Given the description of an element on the screen output the (x, y) to click on. 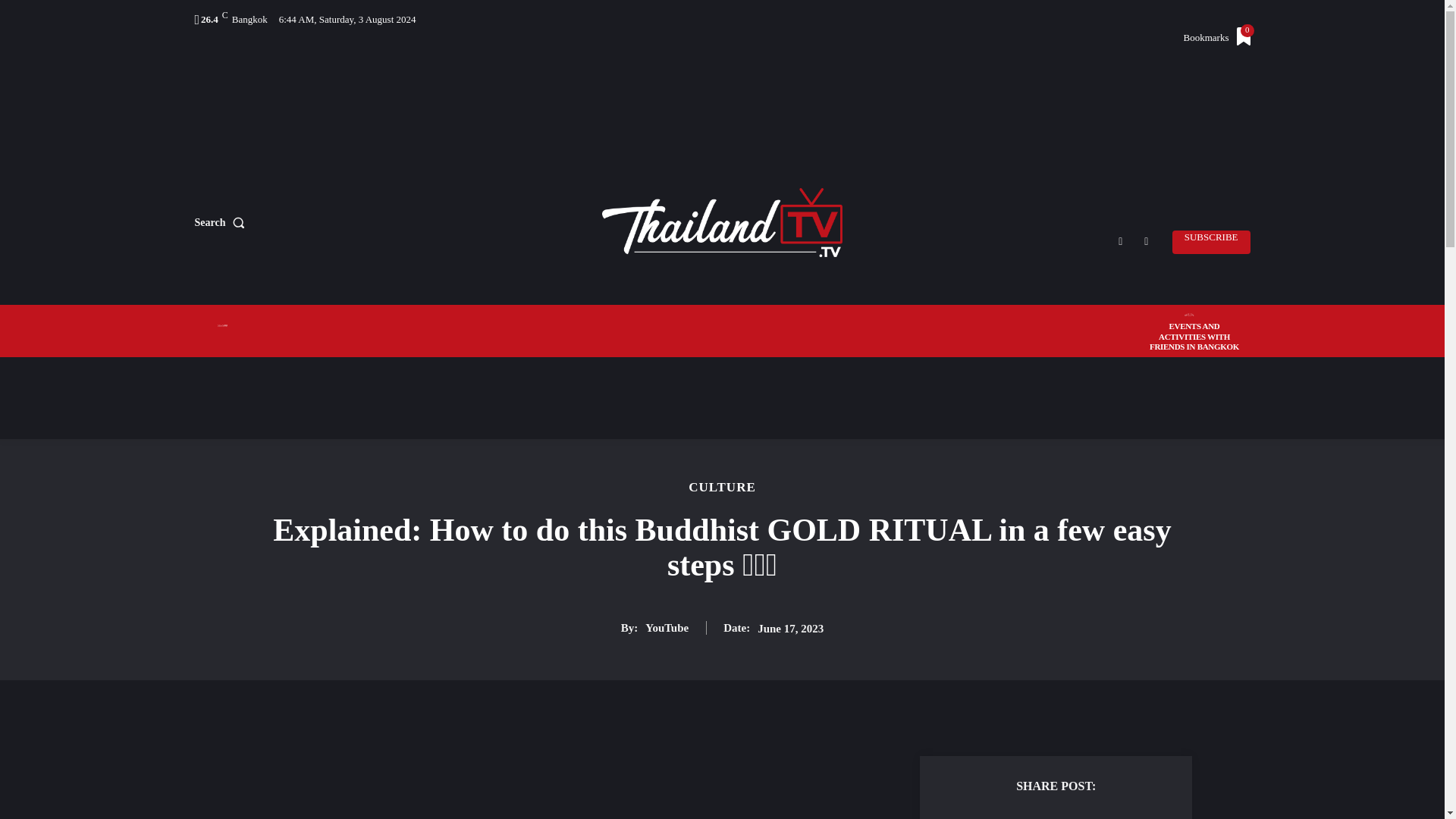
Facebook (1120, 240)
Events and Activities with Friends in Bangkok (1193, 323)
Youtube (1146, 240)
Search (1216, 38)
SUBSCRIBE (221, 223)
EVENTS AND ACTIVITIES WITH FRIENDS IN BANGKOK (1211, 241)
Subscribe (1193, 323)
